Given the description of an element on the screen output the (x, y) to click on. 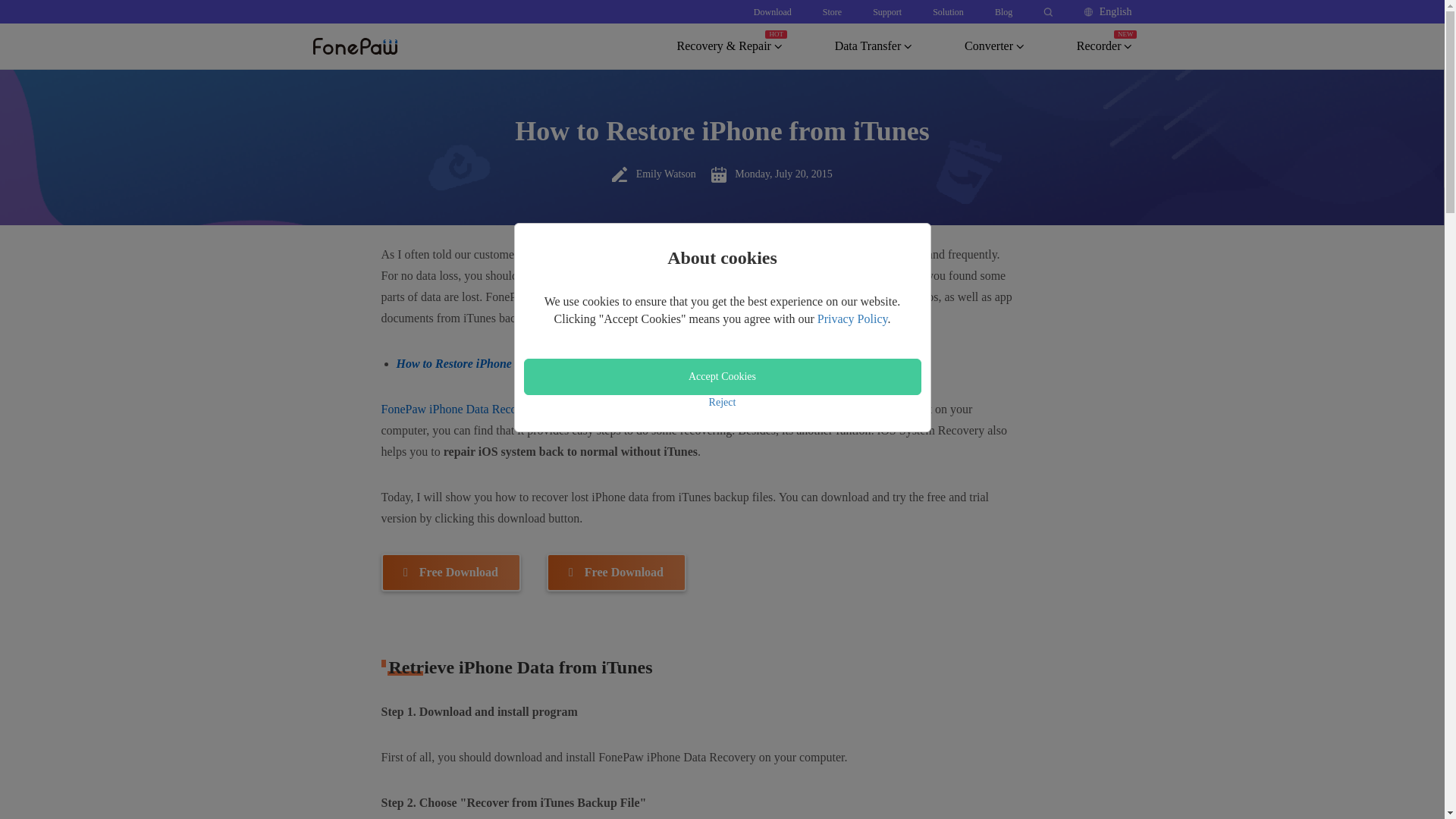
Download (773, 10)
Support (886, 10)
Store (831, 10)
Blog (1002, 10)
Solution (948, 10)
